Given the description of an element on the screen output the (x, y) to click on. 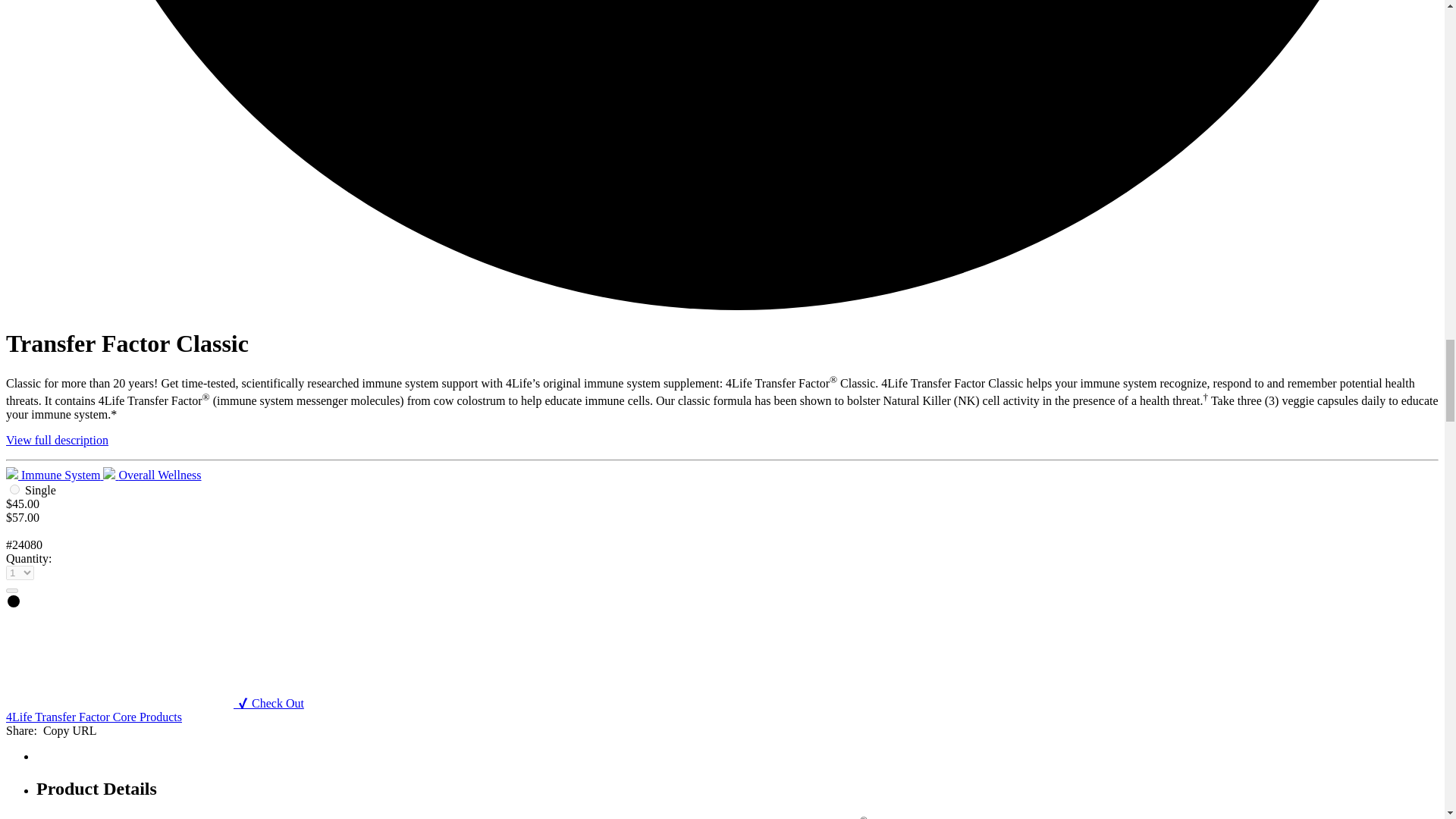
Immune System (54, 474)
Overall Wellness (151, 474)
on (15, 489)
4Life Transfer Factor Core Products (93, 716)
Add to Cart (11, 590)
View full description (56, 440)
